Given the description of an element on the screen output the (x, y) to click on. 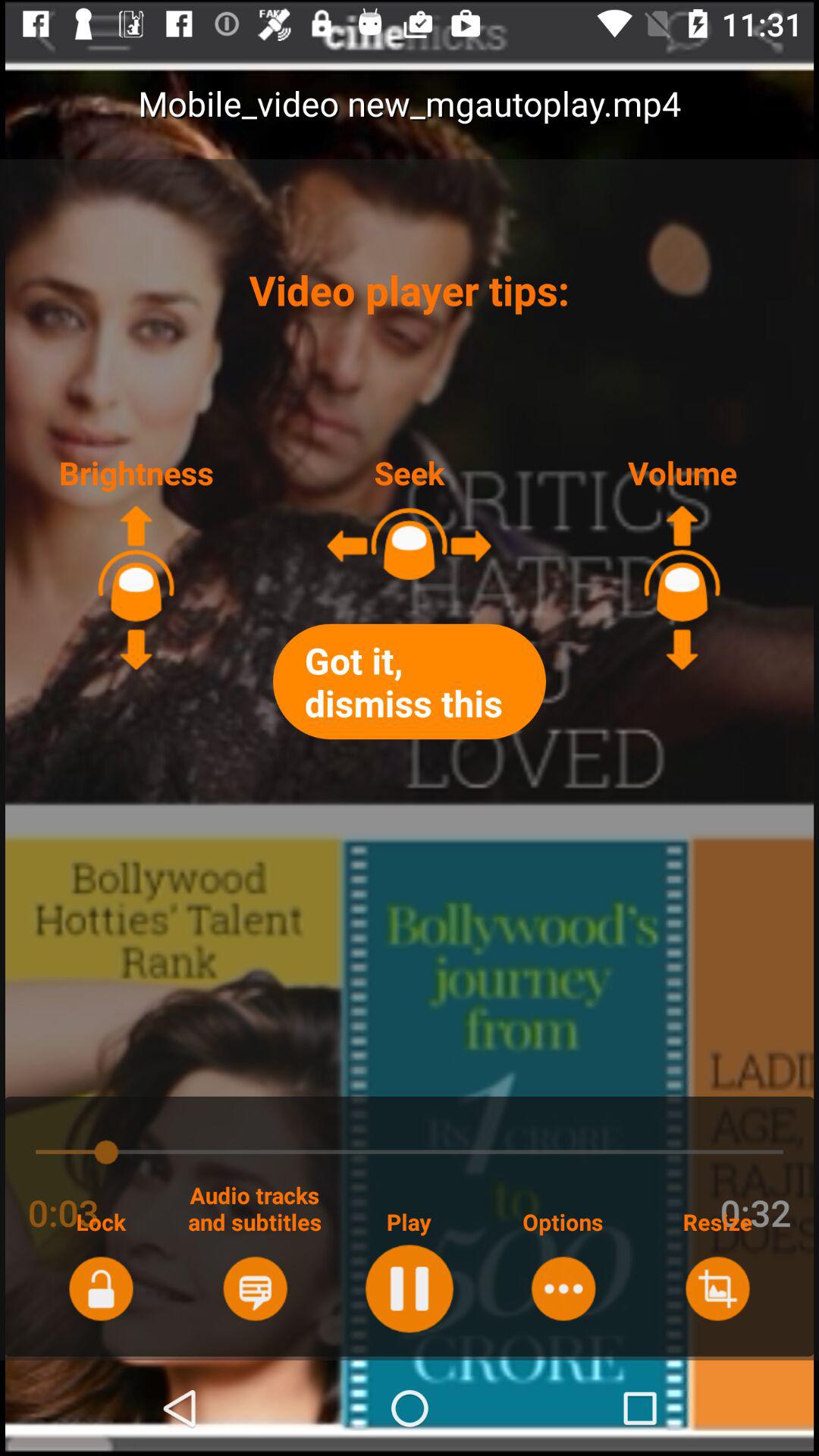
audio tracks and subtitles (255, 1288)
